Given the description of an element on the screen output the (x, y) to click on. 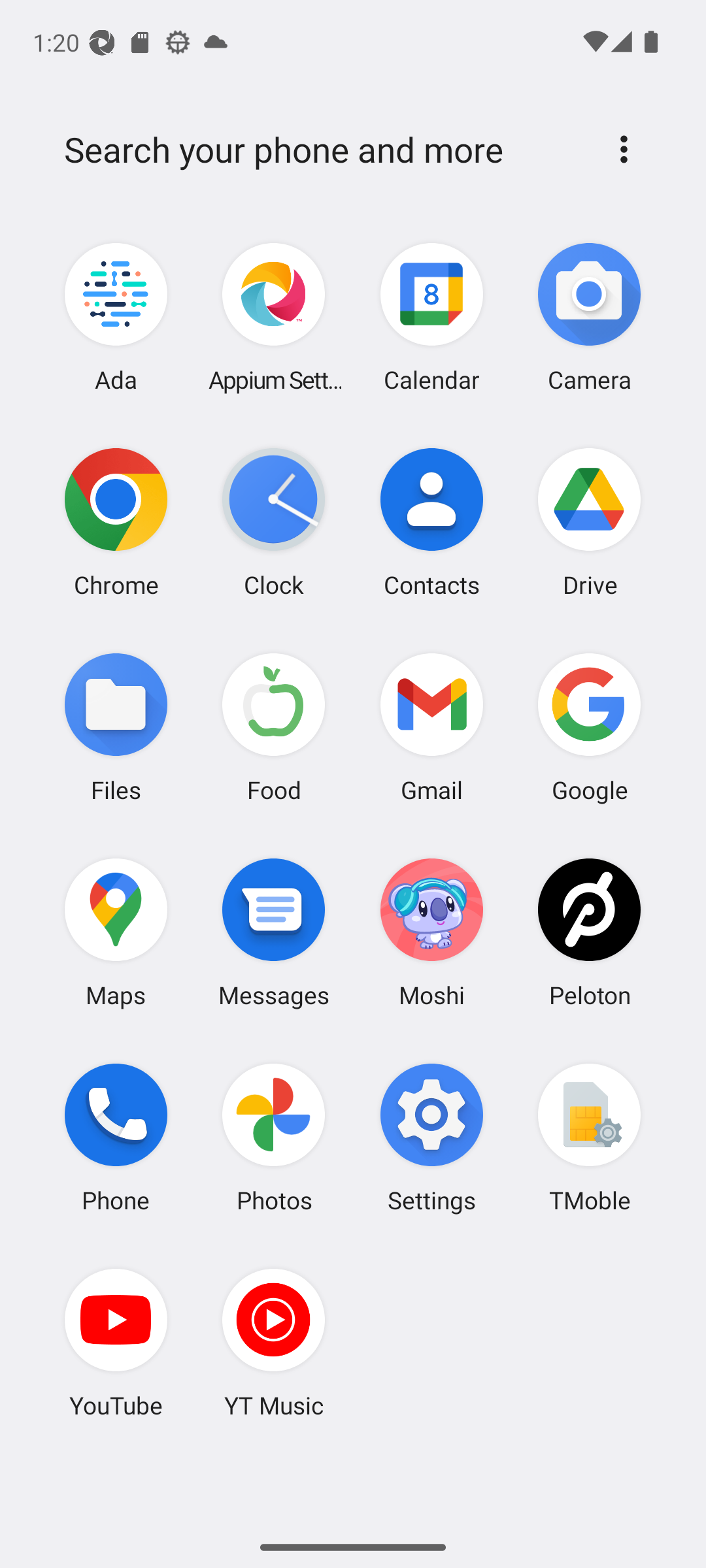
Search your phone and more (321, 149)
Preferences (623, 149)
Ada (115, 317)
Appium Settings (273, 317)
Calendar (431, 317)
Camera (589, 317)
Chrome (115, 522)
Clock (273, 522)
Contacts (431, 522)
Drive (589, 522)
Files (115, 726)
Food (273, 726)
Gmail (431, 726)
Google (589, 726)
Maps (115, 931)
Messages (273, 931)
Moshi (431, 931)
Peloton (589, 931)
Phone (115, 1137)
Photos (273, 1137)
Settings (431, 1137)
TMoble (589, 1137)
YouTube (115, 1342)
YT Music (273, 1342)
